Given the description of an element on the screen output the (x, y) to click on. 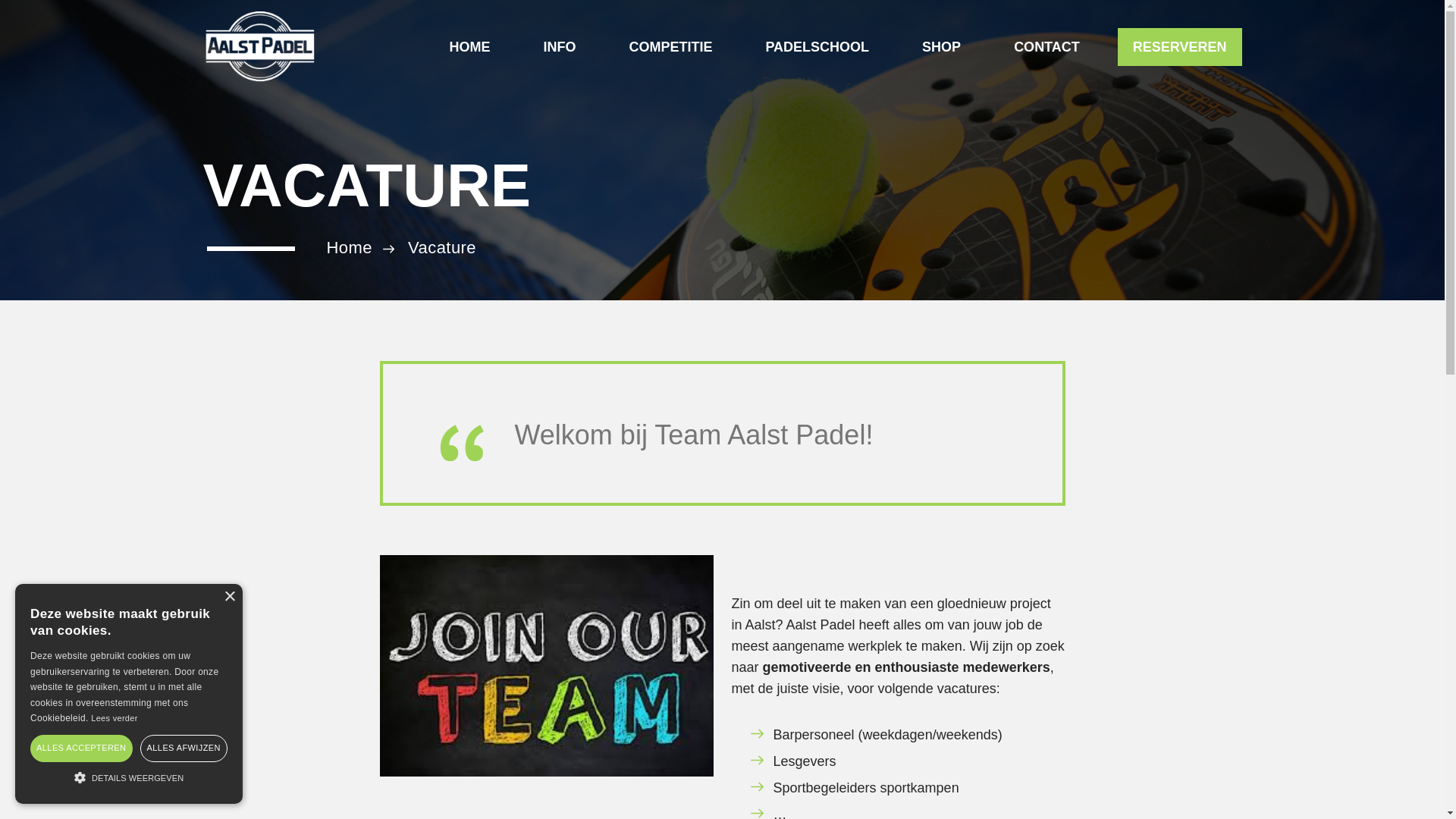
CONTACT Element type: text (1046, 46)
INFO Element type: text (558, 46)
Vacature Element type: text (441, 247)
SHOP Element type: text (941, 46)
HOME Element type: text (468, 46)
PADELSCHOOL Element type: text (817, 46)
COMPETITIE Element type: text (670, 46)
RESERVEREN Element type: text (1179, 46)
Lees verder Element type: text (114, 717)
Home Element type: text (349, 247)
